Given the description of an element on the screen output the (x, y) to click on. 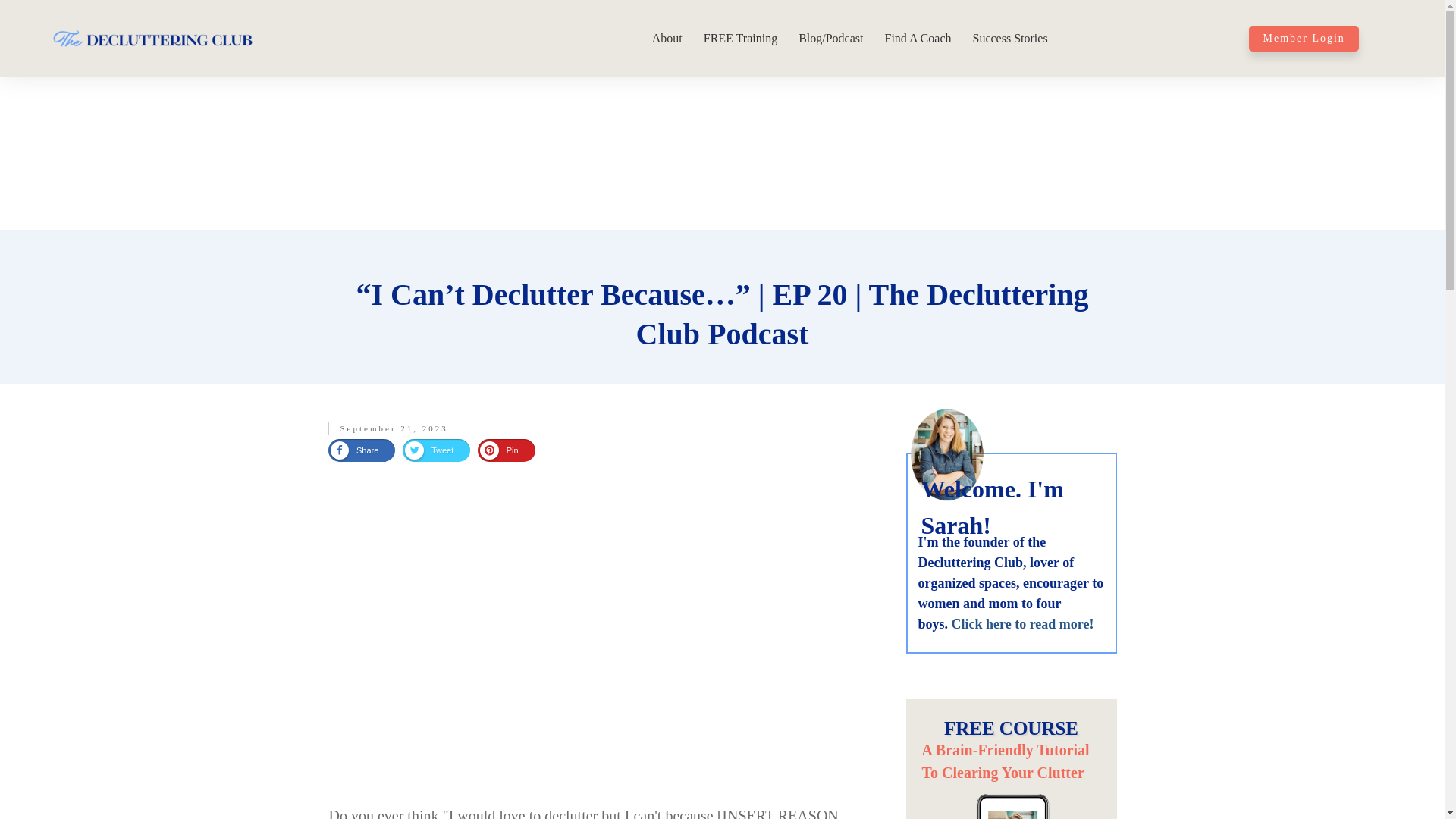
Click here to read more! (1023, 623)
SAFE-Method-1 (1009, 803)
Tweet (428, 450)
Pin (499, 450)
Share (354, 450)
Member Login (1303, 38)
Success Stories (1009, 38)
About (667, 38)
Find A Coach (916, 38)
about sarah (946, 454)
FREE Training (740, 38)
